Given the description of an element on the screen output the (x, y) to click on. 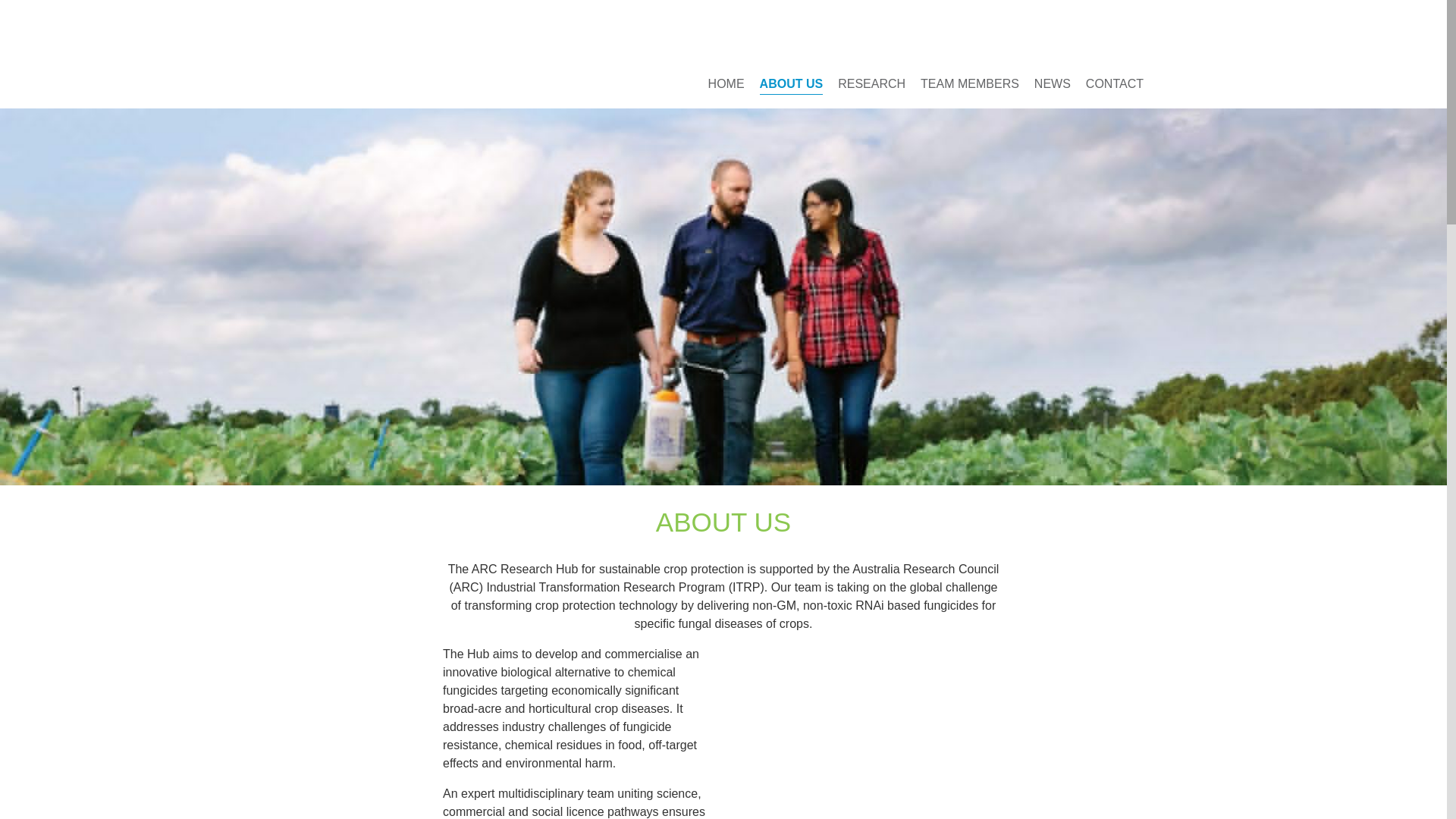
CONTACT (1114, 83)
ABOUT US (792, 84)
RESEARCH (871, 83)
NEWS (1051, 83)
HOME (725, 83)
TEAM MEMBERS (969, 83)
